Given the description of an element on the screen output the (x, y) to click on. 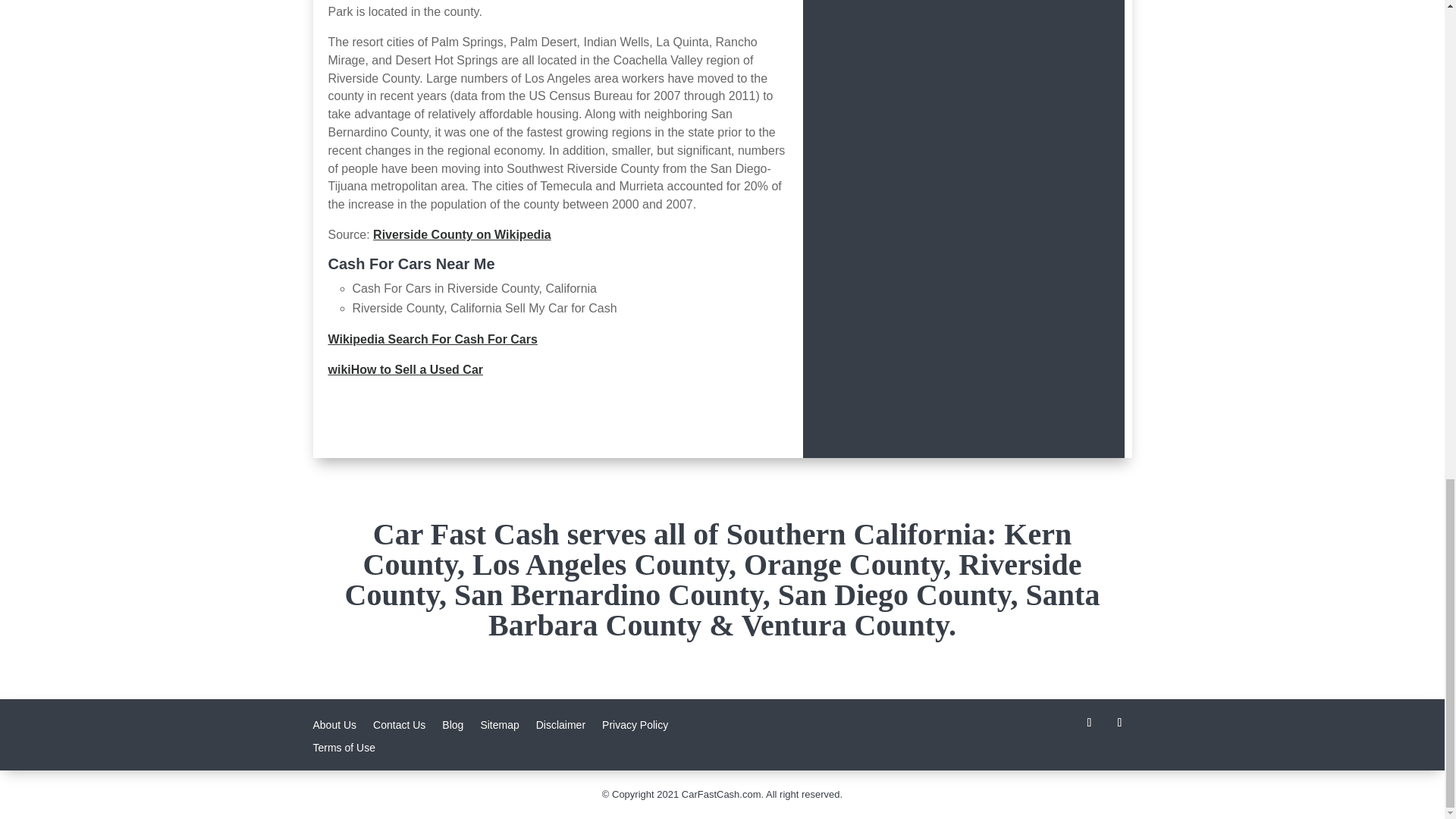
Riverside County on Wikipedia (461, 234)
wikiHow to Sell a Used Car (405, 369)
Wikipedia Search For Cash For Cars (432, 338)
